Given the description of an element on the screen output the (x, y) to click on. 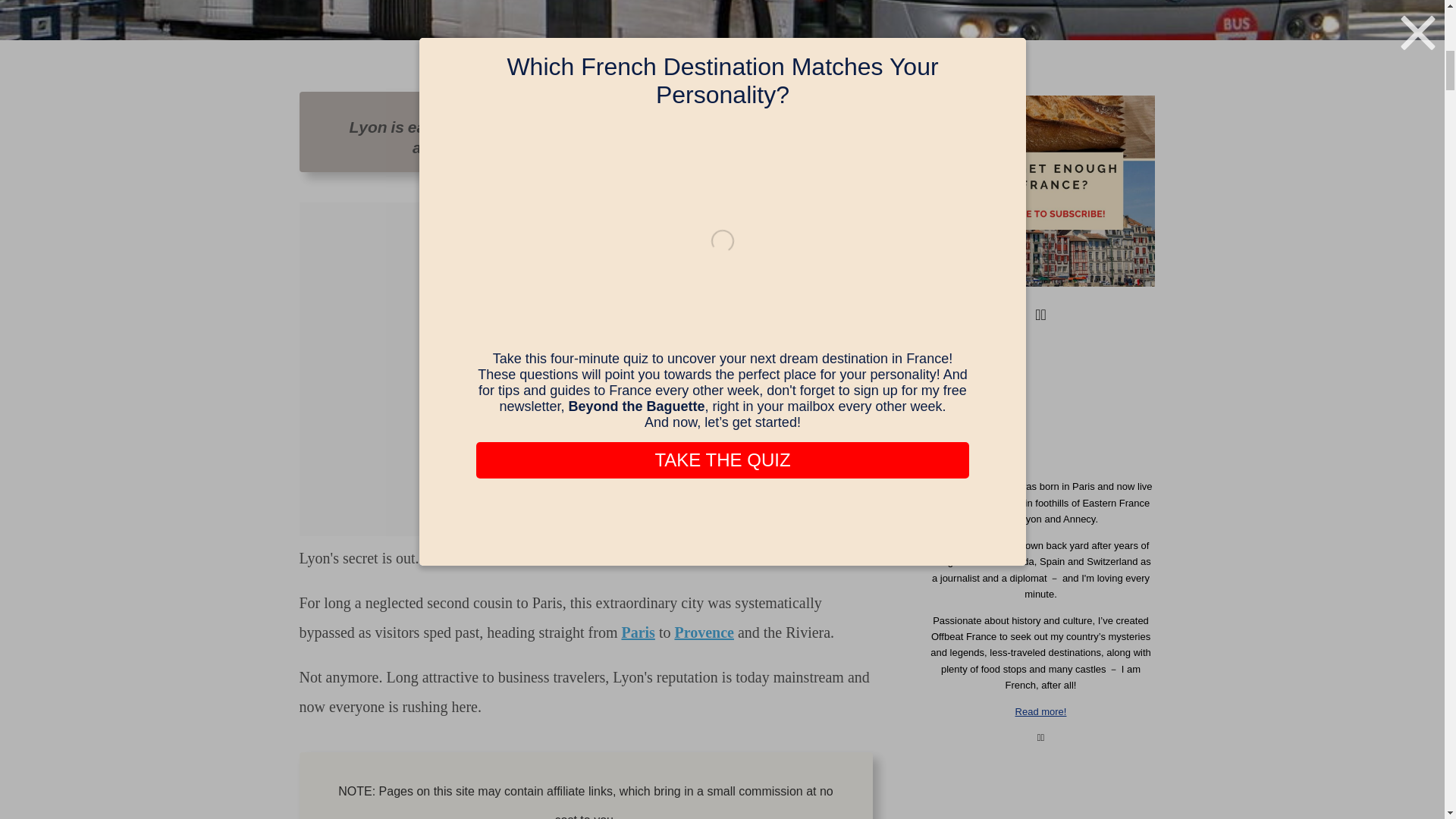
Offbeat France newsletter sign-up (1040, 190)
Leyla Alyanak Publisher of Offbeat France (1040, 407)
